Given the description of an element on the screen output the (x, y) to click on. 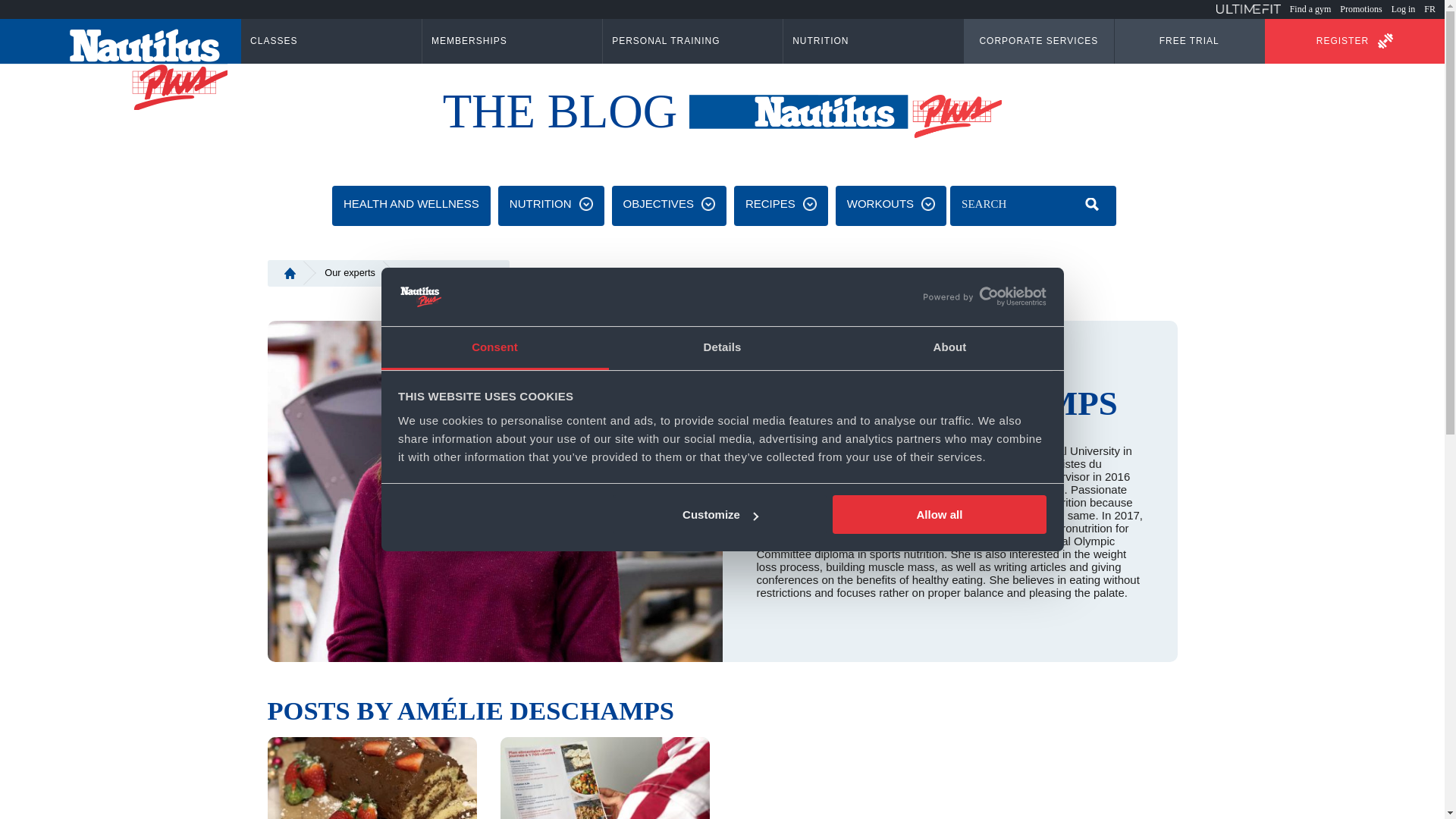
Consent (494, 348)
Details (721, 348)
About (948, 348)
